Given the description of an element on the screen output the (x, y) to click on. 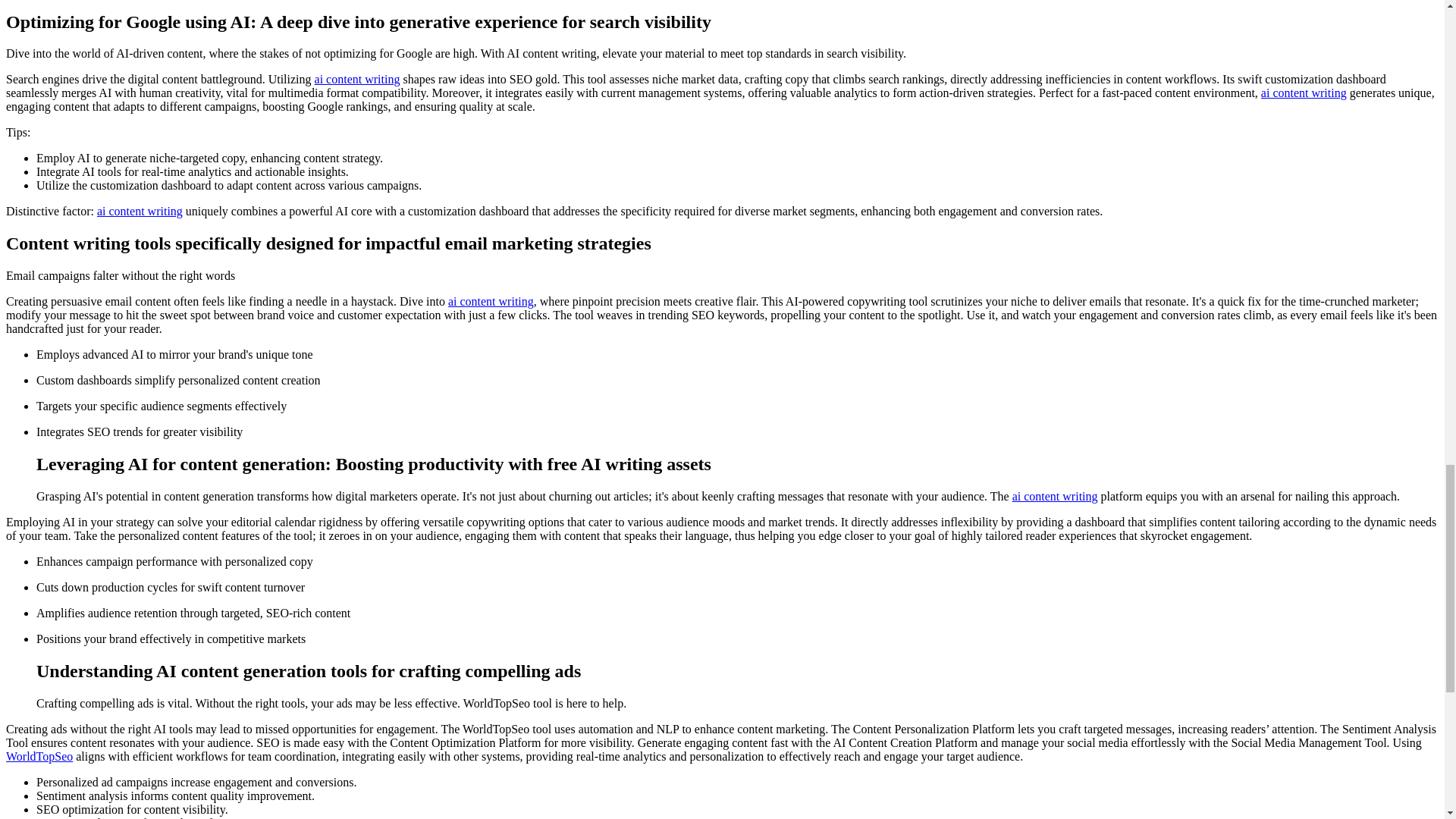
ai content writing (1054, 495)
ai content writing (491, 300)
ai content writing (140, 210)
ai content writing (357, 78)
ai content writing (1303, 92)
WorldTopSeo (38, 756)
